Given the description of an element on the screen output the (x, y) to click on. 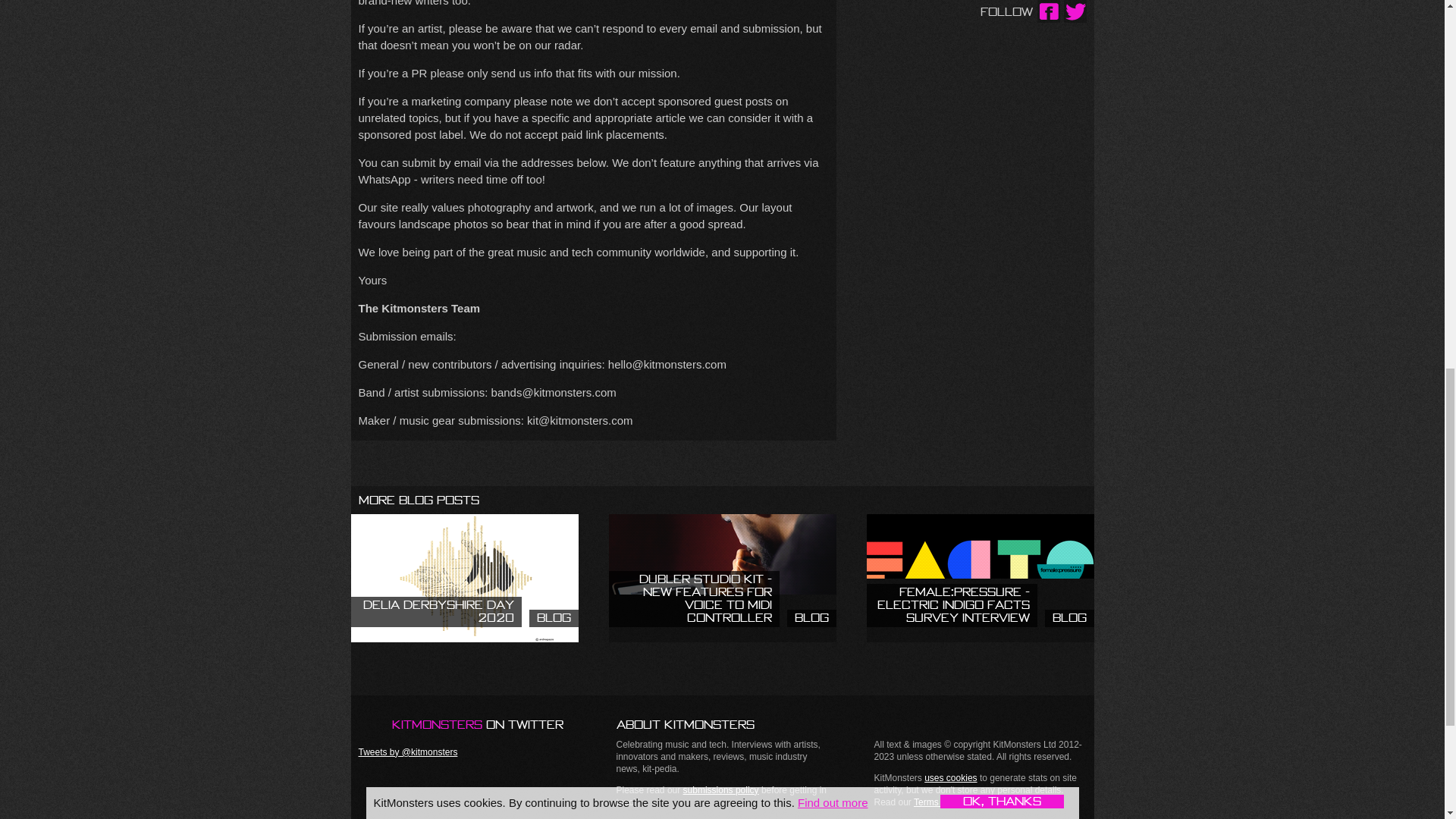
submissions policy (720, 789)
KitMonsters on Twitter (460, 724)
uses cookies (464, 578)
